Given the description of an element on the screen output the (x, y) to click on. 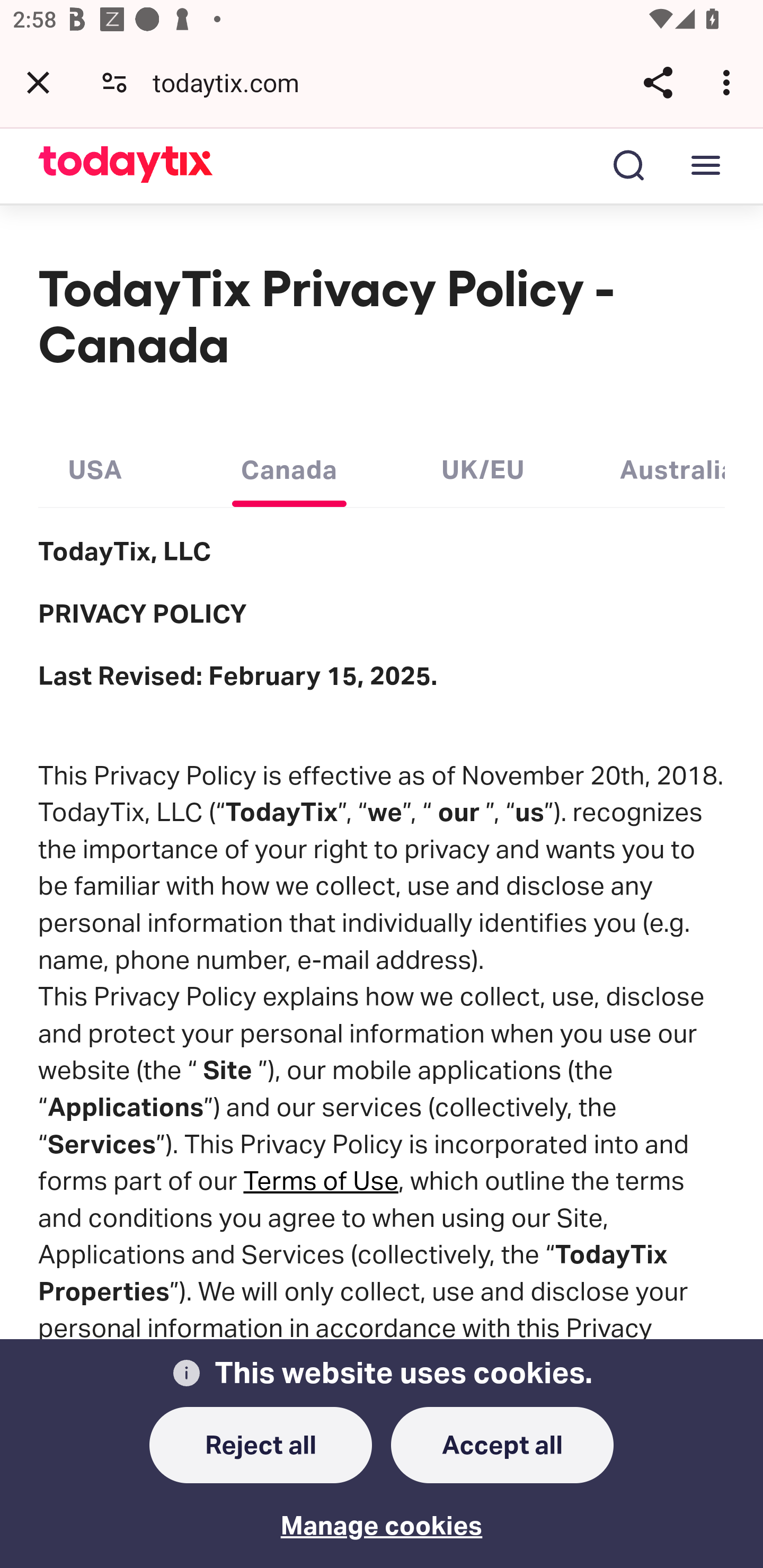
Close tab (38, 82)
Share (657, 82)
Customize and control Google Chrome (729, 82)
Connection is secure (114, 81)
todaytix.com (232, 81)
TodayTix Logo (126, 165)
USA (95, 464)
Canada (288, 464)
UK/EU (482, 464)
Australia (671, 464)
Terms of Use (321, 1180)
Reject all (260, 1445)
Accept all (501, 1445)
Manage cookies (381, 1512)
